Given the description of an element on the screen output the (x, y) to click on. 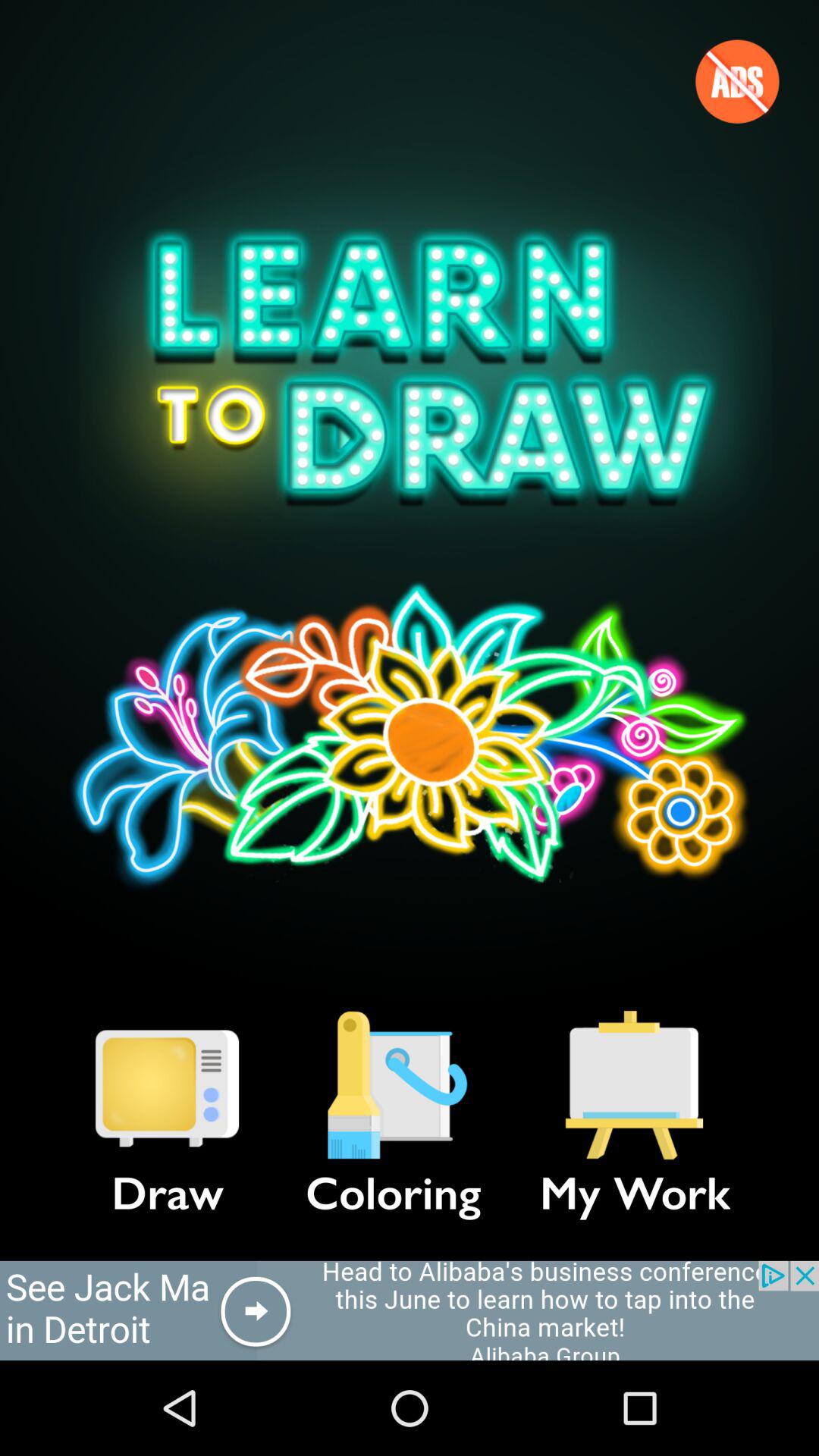
tap item to the left of my work icon (393, 1085)
